Given the description of an element on the screen output the (x, y) to click on. 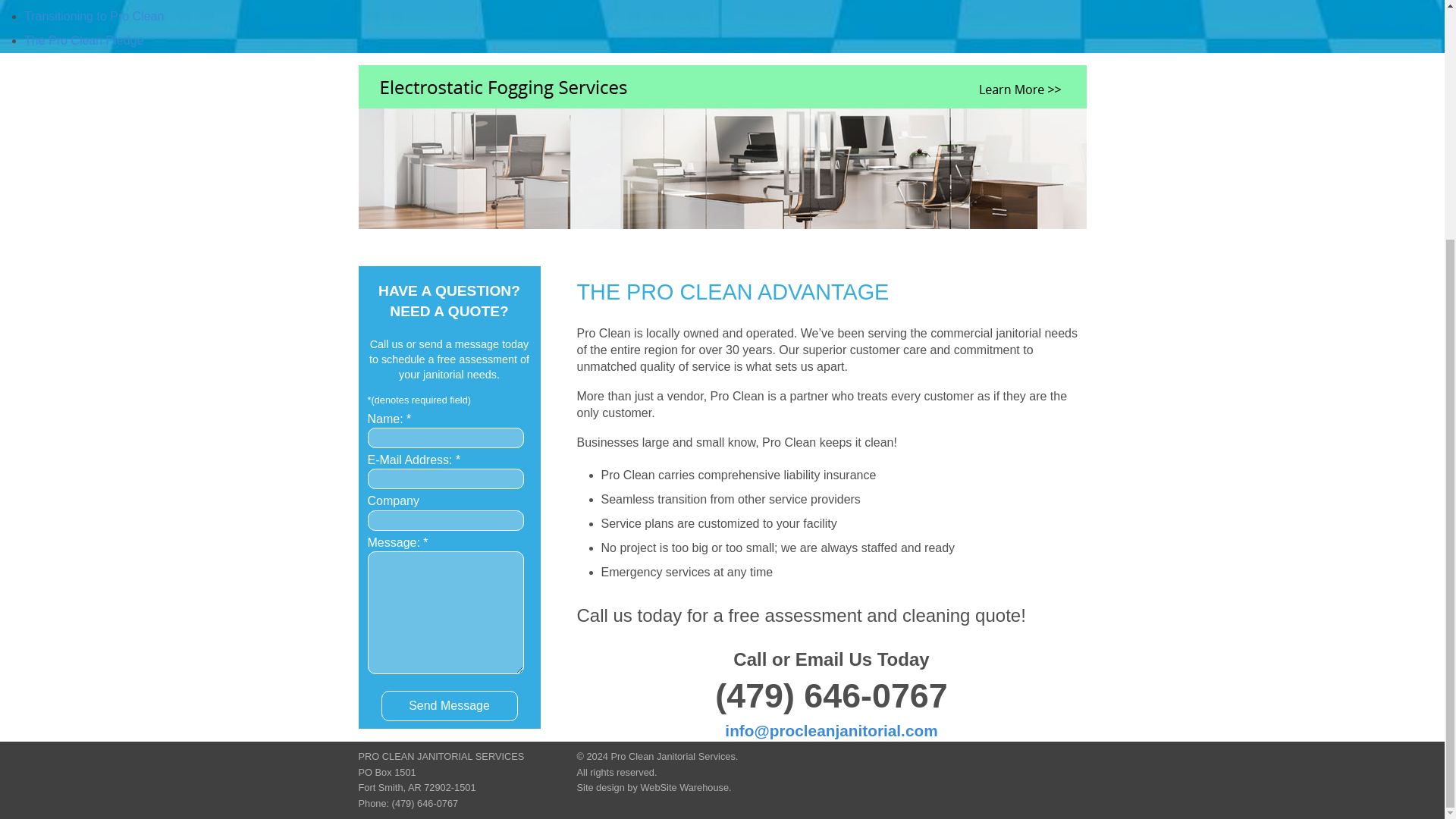
The (83, 40)
covid-19-disinfect-fogging (722, 164)
Send Message (448, 706)
WebSite Warehouse (684, 787)
Send Us An Email (831, 730)
Send Message (448, 706)
The Pro Clean Pledge (83, 40)
Transitioning to Pro Clean (93, 15)
Transitioning (93, 15)
